Given the description of an element on the screen output the (x, y) to click on. 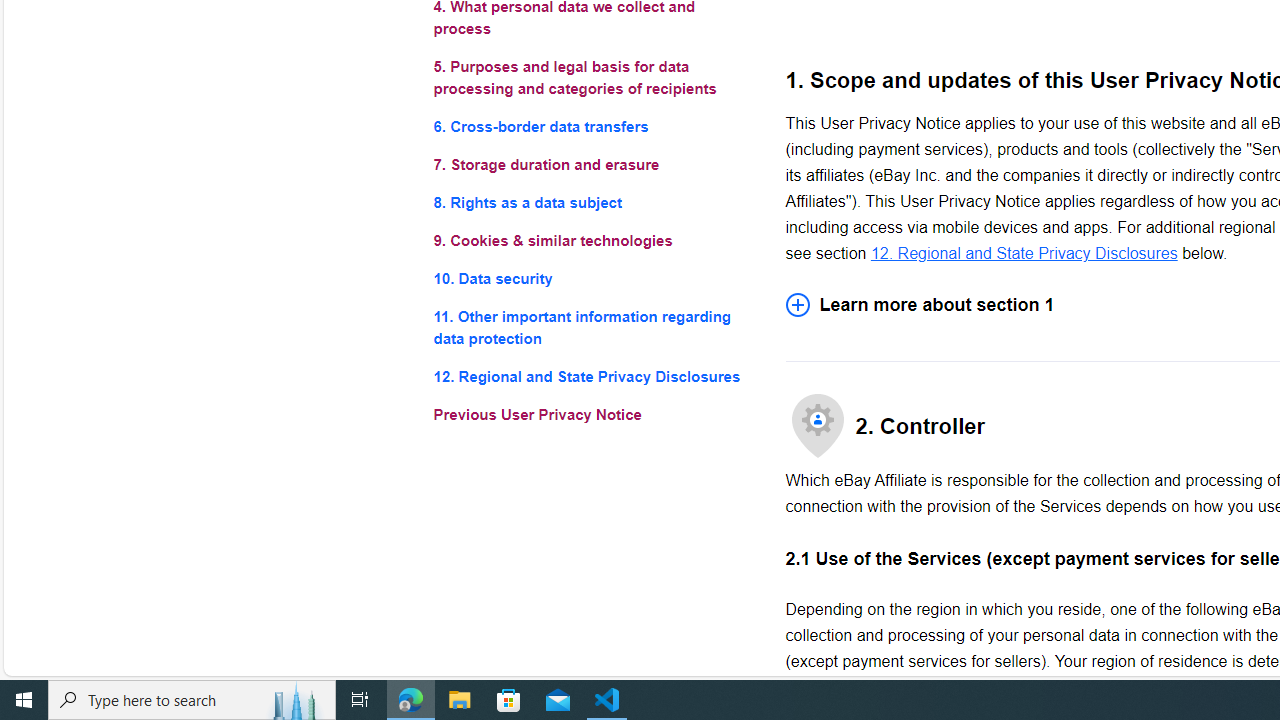
12. Regional and State Privacy Disclosures (592, 376)
8. Rights as a data subject (592, 203)
10. Data security (592, 278)
